Given the description of an element on the screen output the (x, y) to click on. 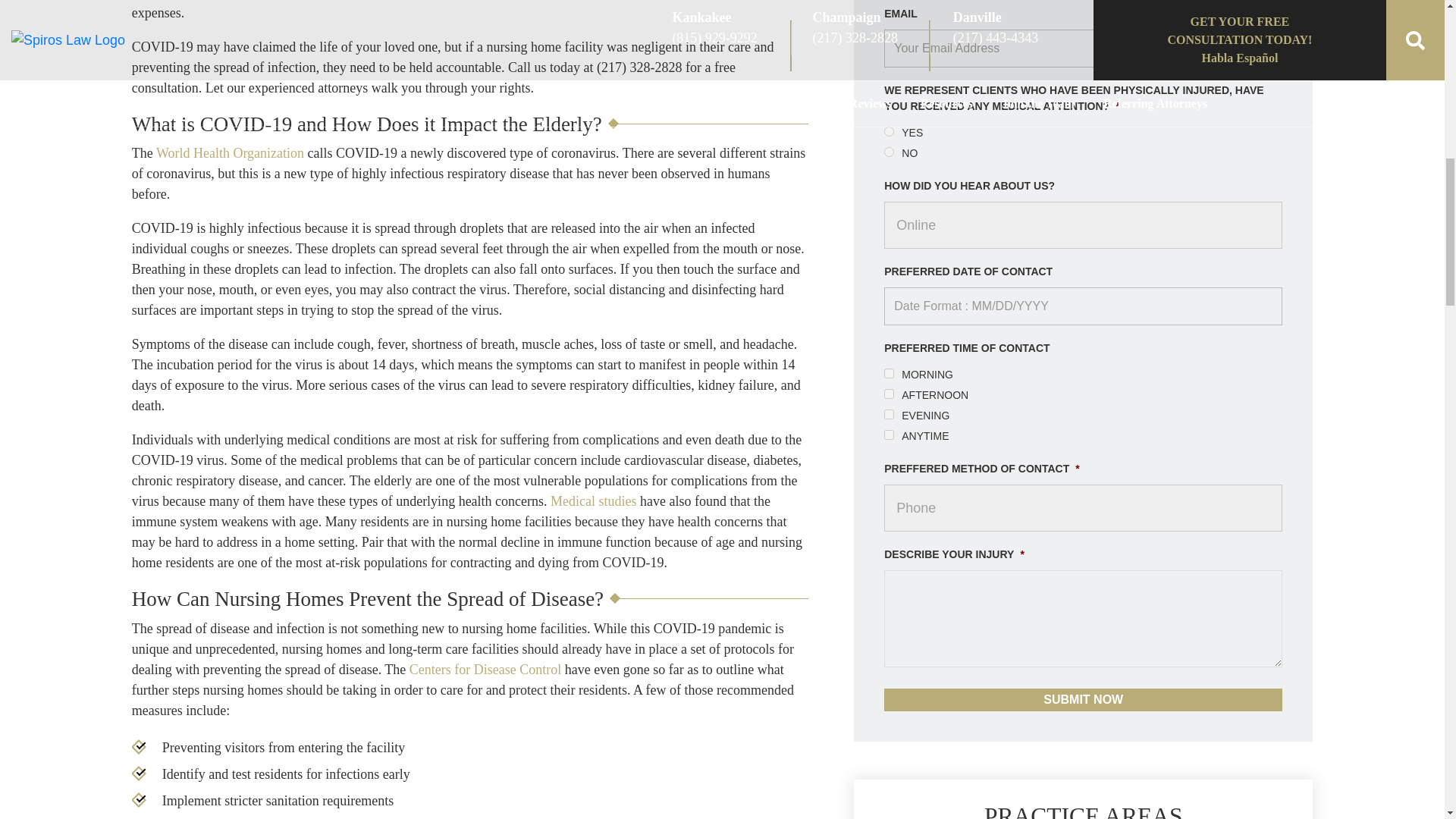
Afternoon (888, 393)
Medical studies (593, 500)
Centers for Disease Control (484, 669)
World Health Organization (229, 152)
Anytime (888, 434)
Submit Now (1082, 699)
Morning (888, 373)
Submit Now (1082, 699)
Yes (888, 131)
No (888, 152)
Evening (888, 414)
